Given the description of an element on the screen output the (x, y) to click on. 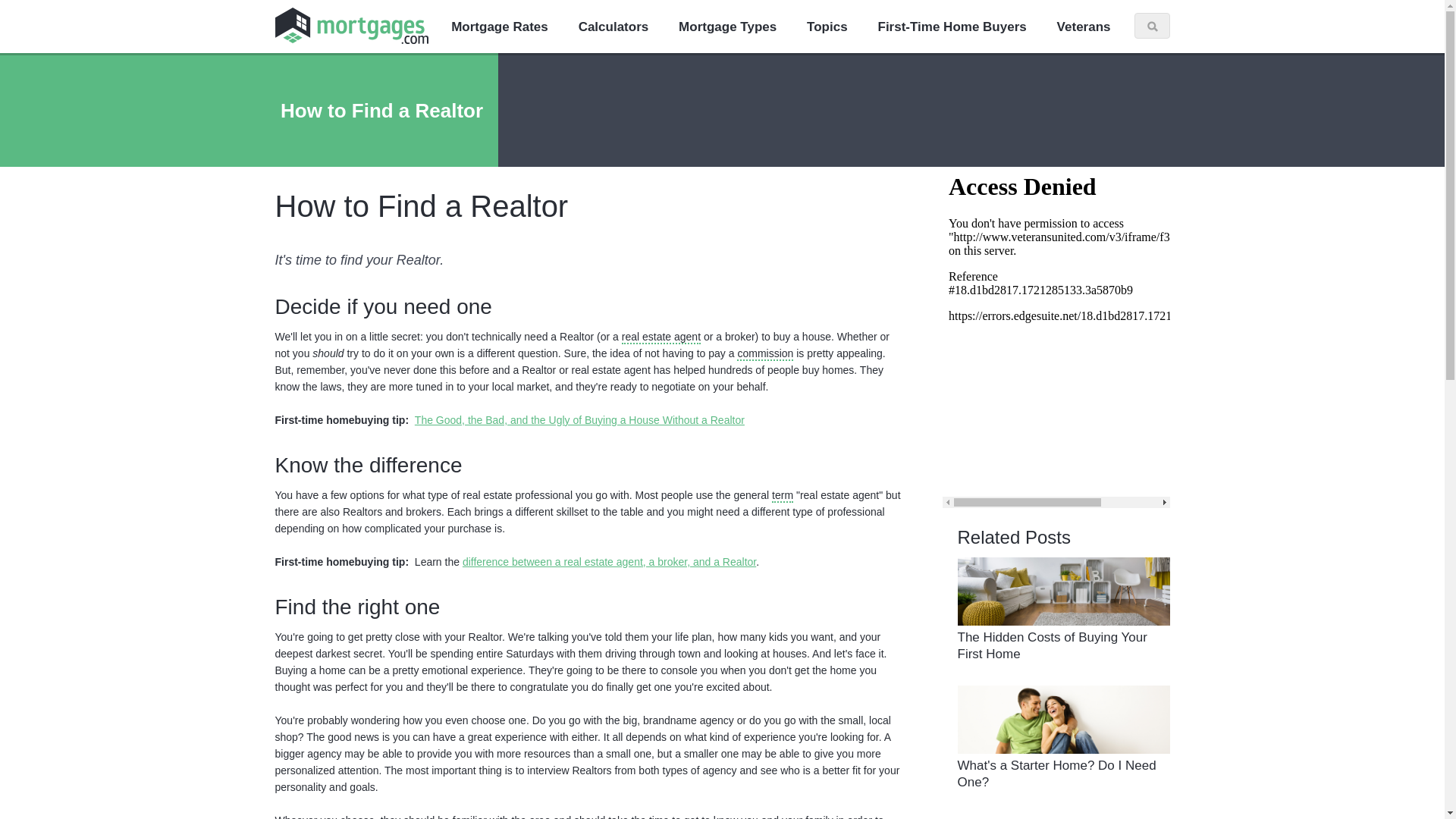
Mortgage Types (727, 26)
Search Site (1152, 26)
The amount of time it will take to pay off your loan. (782, 495)
Mortgage Rates (499, 26)
Search Site (1152, 26)
mortgages.com home (722, 25)
The Hidden Costs of Buying Your First Home (1051, 644)
Veterans (1083, 26)
What's a Starter Home? Do I Need One? (1056, 773)
Calculators (613, 26)
First-Time Home Buyers (952, 26)
